Given the description of an element on the screen output the (x, y) to click on. 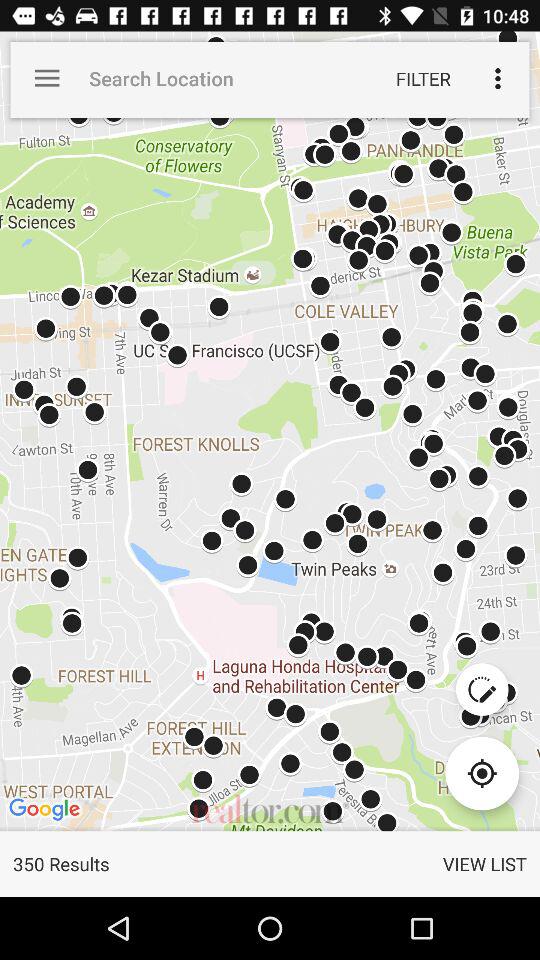
choose icon next to the search location item (47, 78)
